Given the description of an element on the screen output the (x, y) to click on. 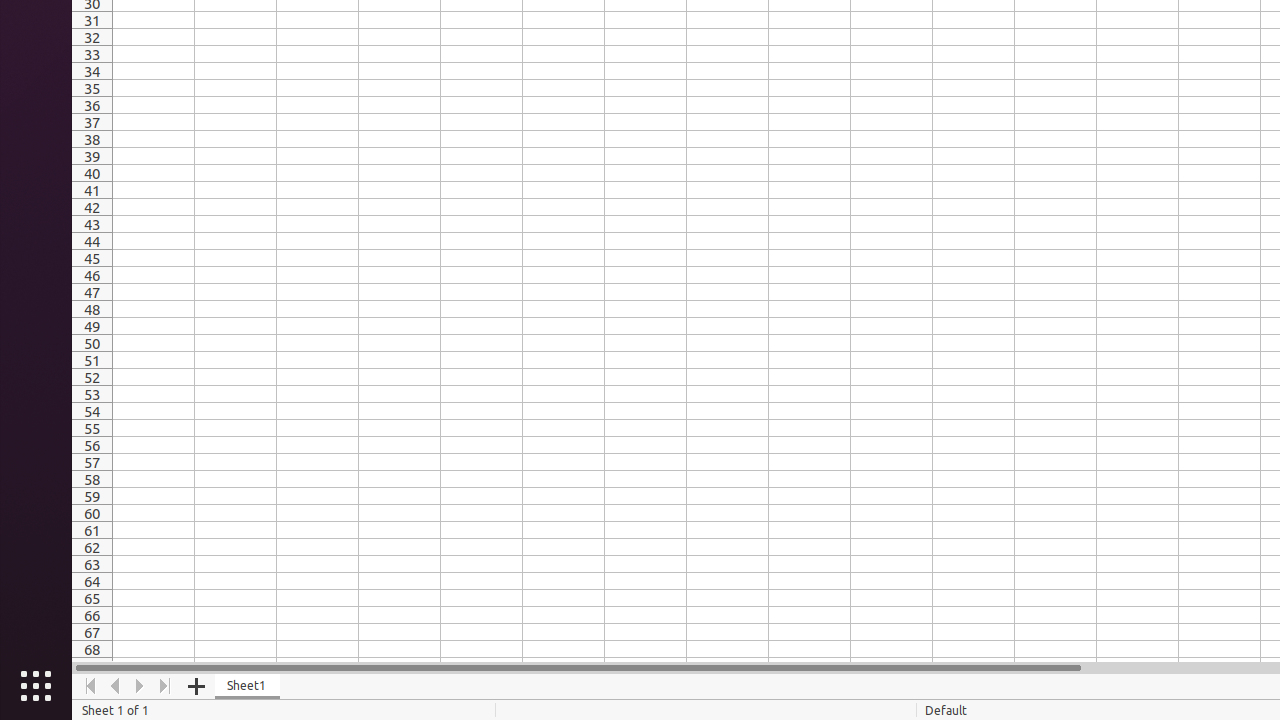
Show Applications Element type: toggle-button (36, 686)
